Given the description of an element on the screen output the (x, y) to click on. 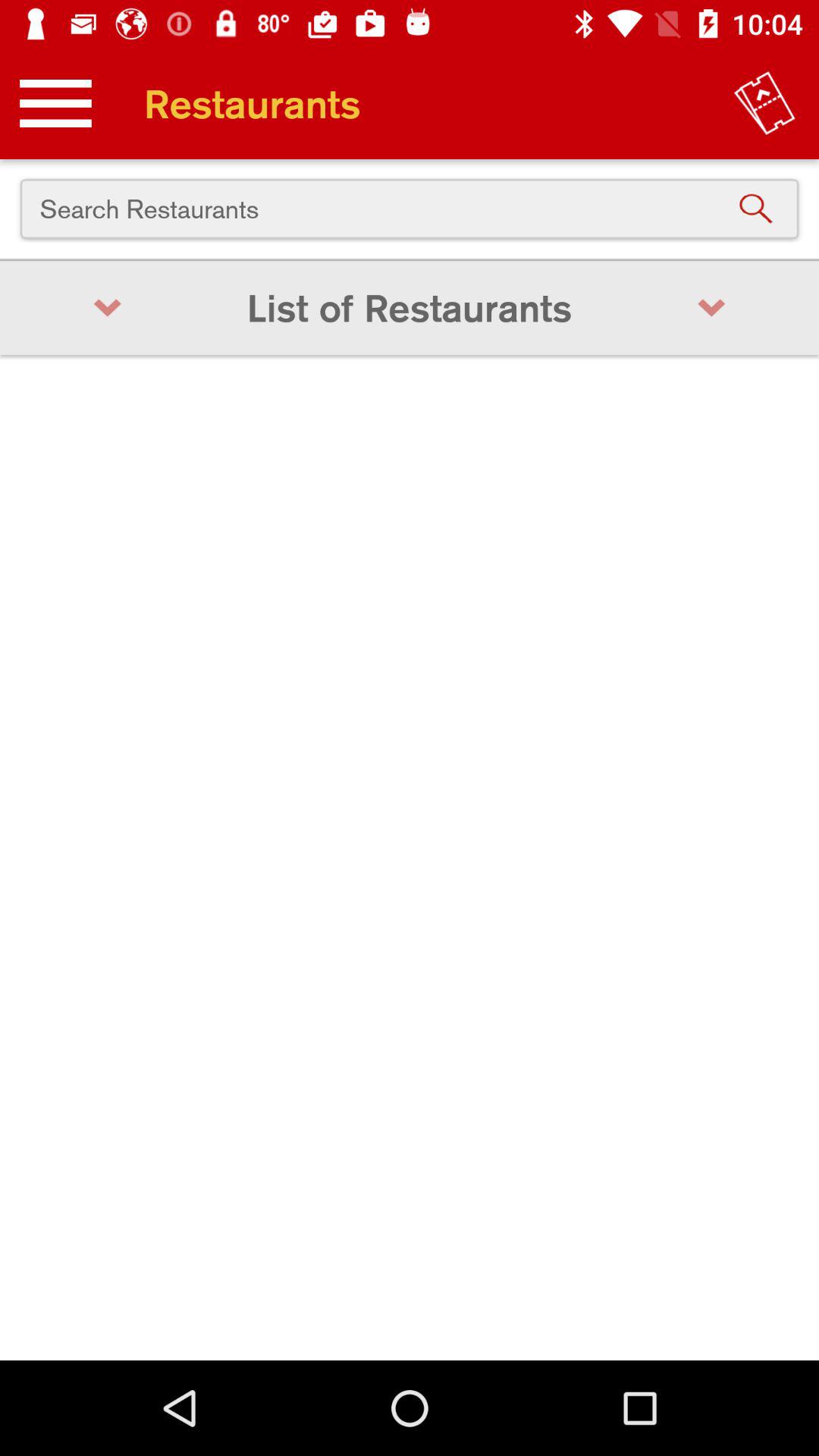
choose the search restaurants (409, 208)
